Given the description of an element on the screen output the (x, y) to click on. 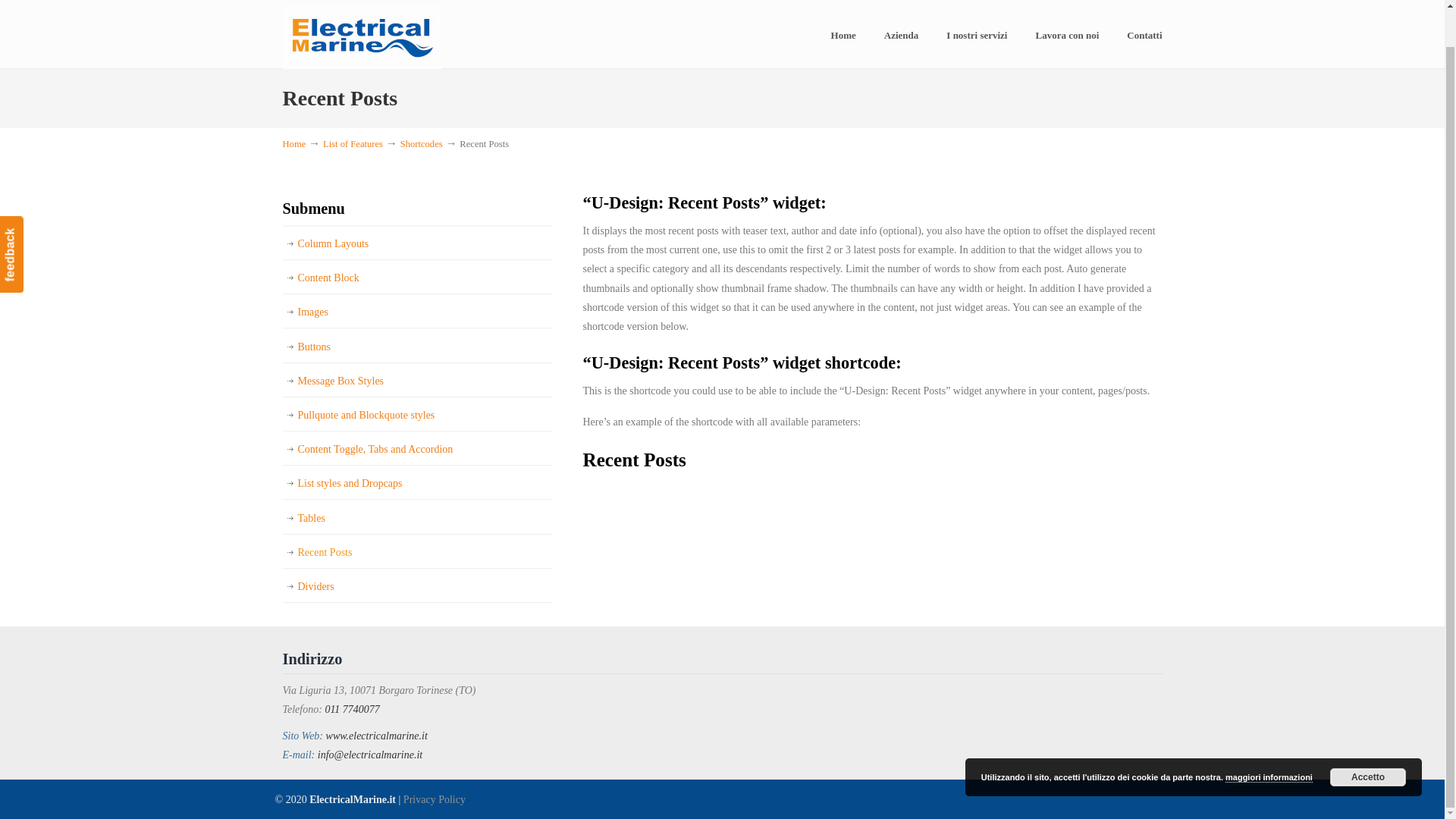
Content Toggle, Tabs and Accordion (416, 449)
I nostri servizi (976, 35)
Home (842, 35)
Recent Posts (416, 552)
Privacy Policy (434, 799)
Azienda (901, 35)
Images (416, 311)
feedback (37, 189)
Tables (416, 518)
Pullquote and Blockquote styles (416, 415)
